Given the description of an element on the screen output the (x, y) to click on. 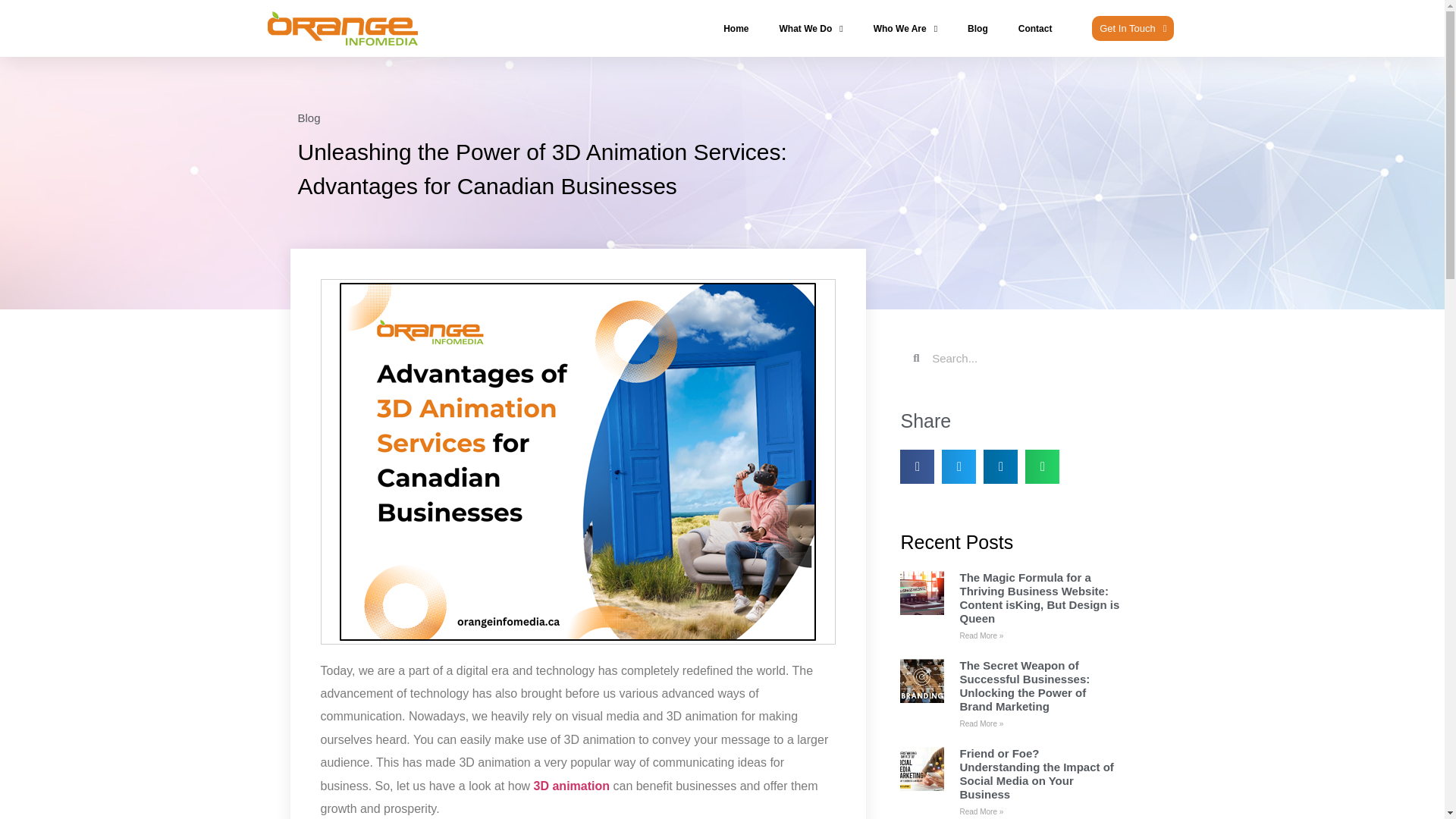
Get In Touch (1132, 27)
What We Do (810, 28)
Who We Are (905, 28)
Contact (1034, 28)
